Given the description of an element on the screen output the (x, y) to click on. 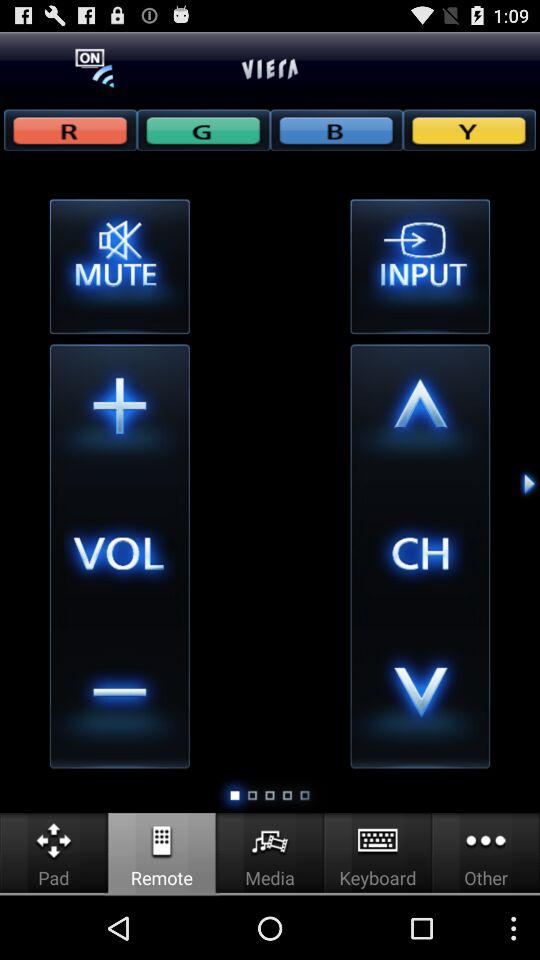
mute or unmute box (119, 266)
